Given the description of an element on the screen output the (x, y) to click on. 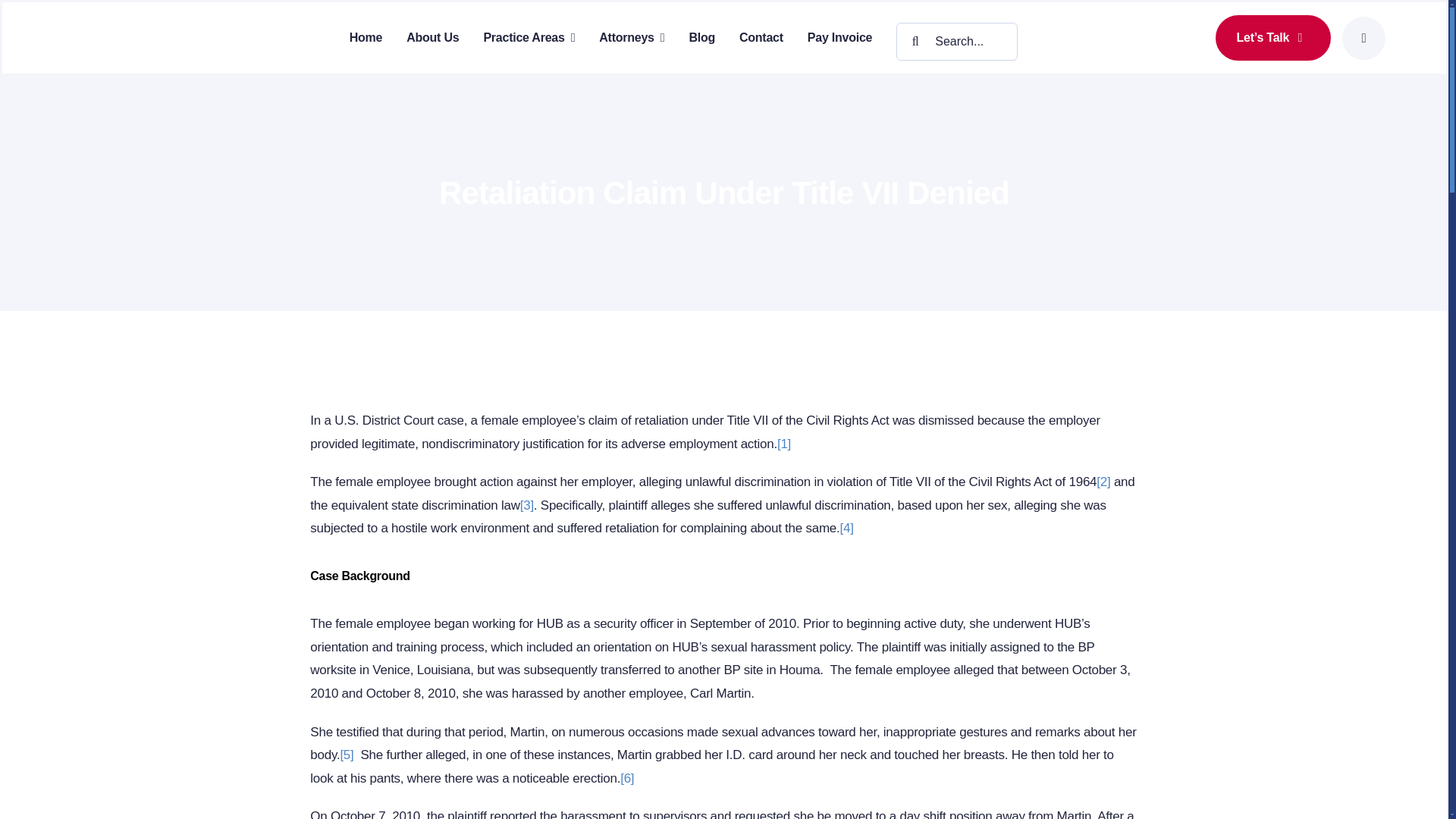
About Us (432, 37)
Home (365, 37)
Practice Areas (529, 37)
